Given the description of an element on the screen output the (x, y) to click on. 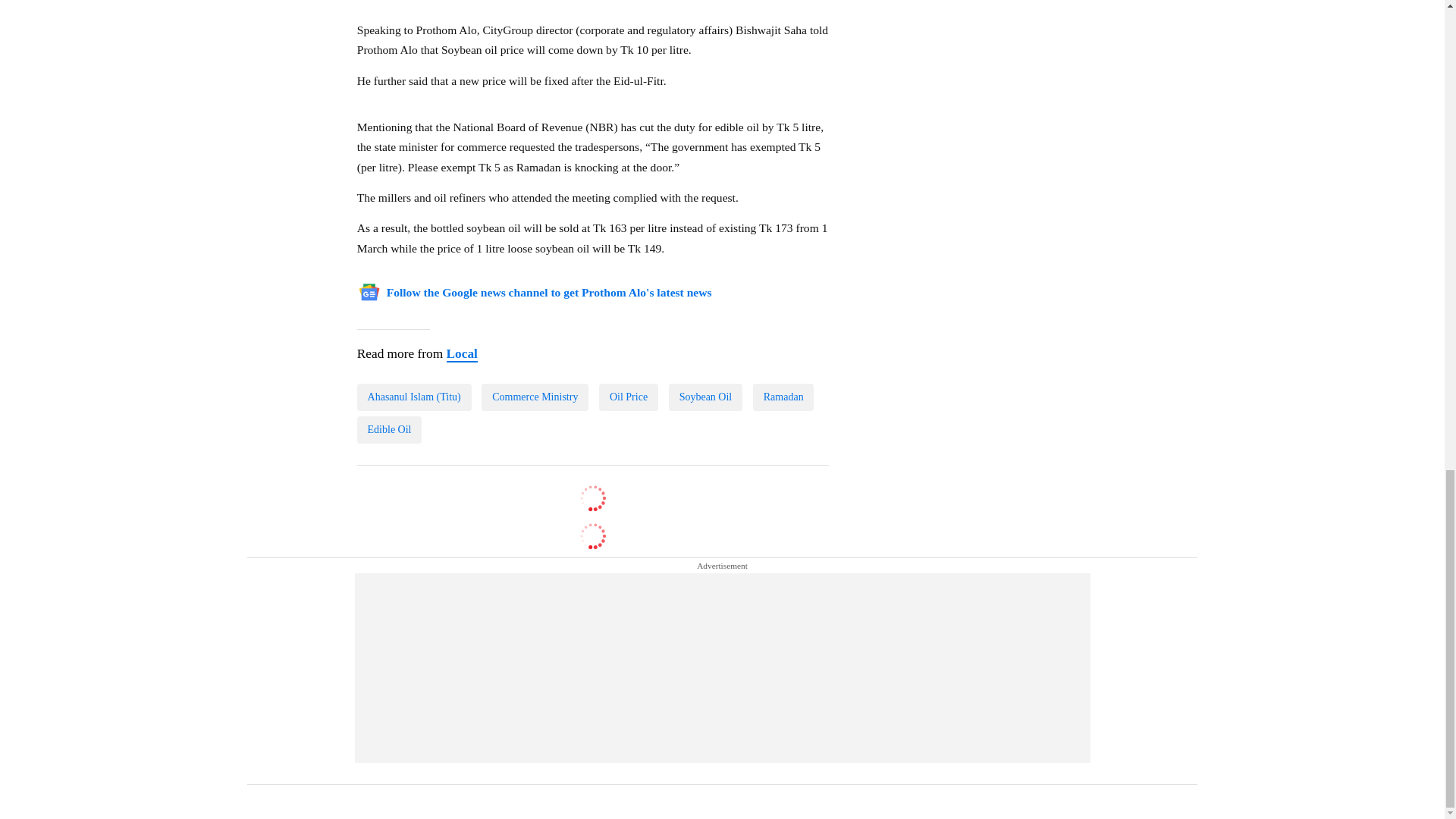
Local (461, 354)
Soybean Oil (705, 397)
Oil Price (628, 397)
Ramadan (782, 397)
Edible Oil (389, 429)
Commerce Ministry (534, 397)
